Given the description of an element on the screen output the (x, y) to click on. 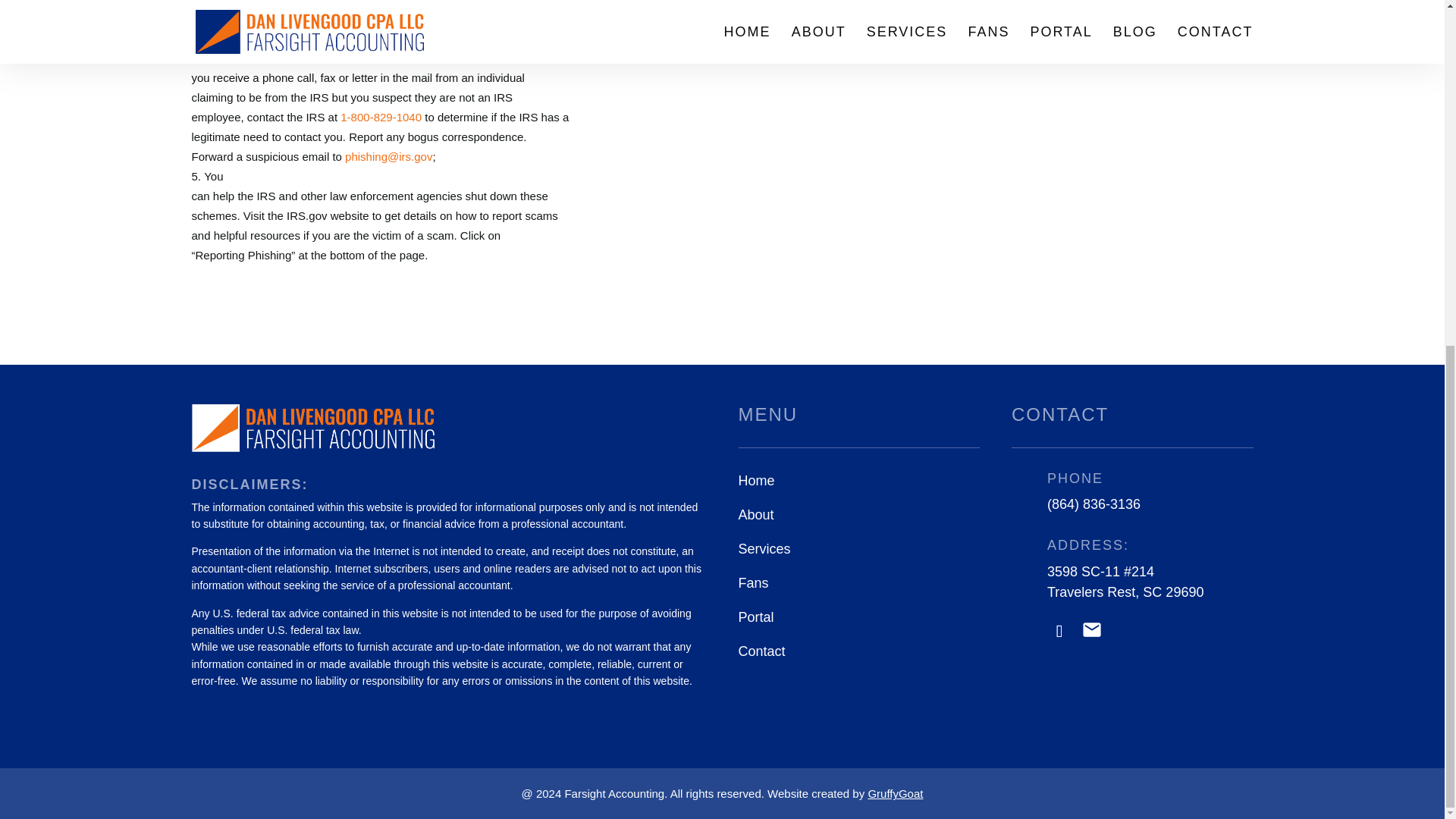
Portal (756, 616)
Home (756, 480)
1-800-829-1040 (381, 116)
Fans (753, 582)
GruffyGoat (895, 793)
Services (764, 548)
Contact (762, 651)
Follow on  (1091, 631)
About (756, 514)
Dan Livengood CPA Logo horizontal white (311, 428)
